Given the description of an element on the screen output the (x, y) to click on. 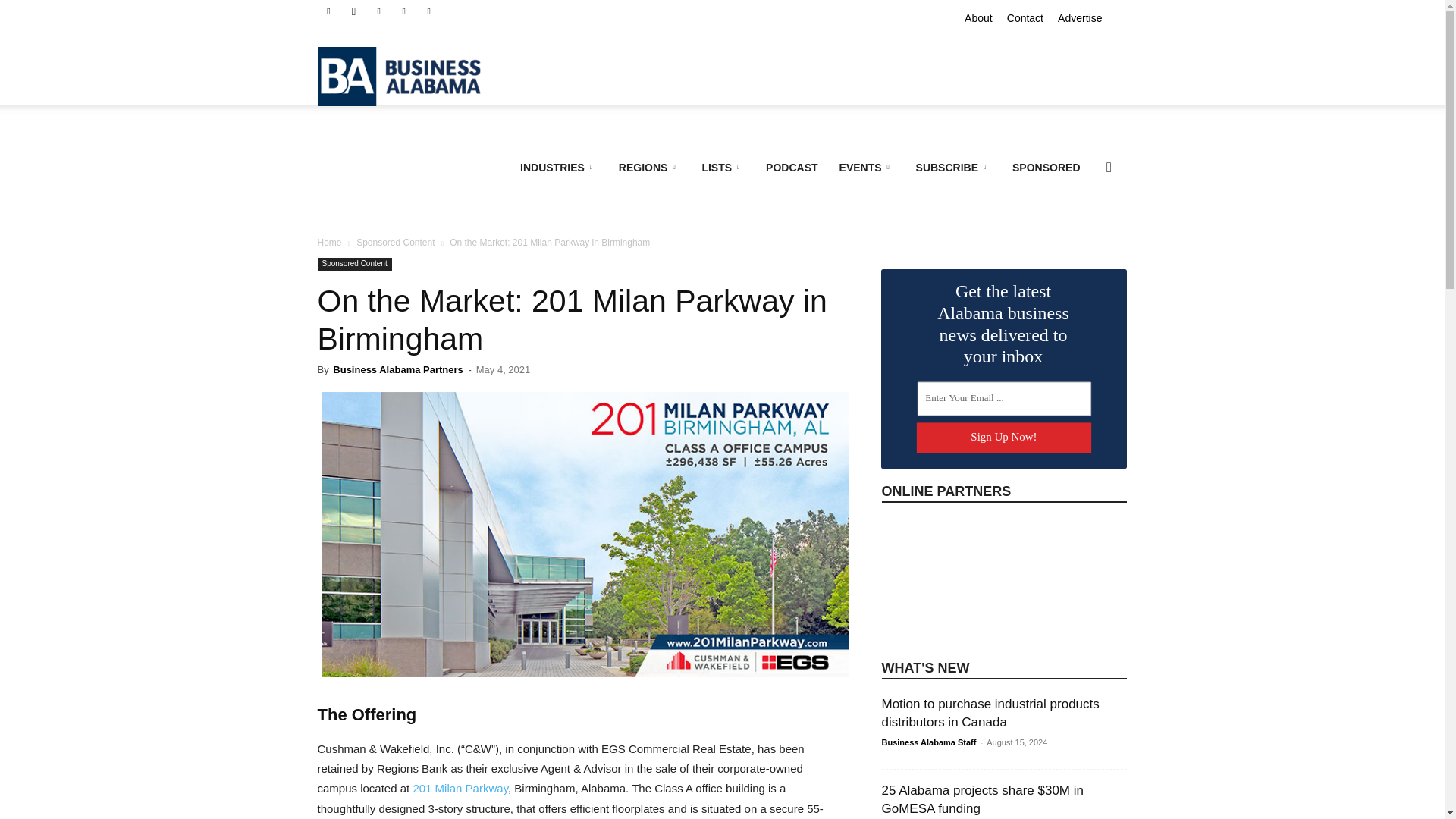
Business Alabama Magazine (406, 76)
Instagram (353, 10)
Linkedin (379, 10)
Spotify (403, 10)
Facebook (328, 10)
Twitter (429, 10)
